Given the description of an element on the screen output the (x, y) to click on. 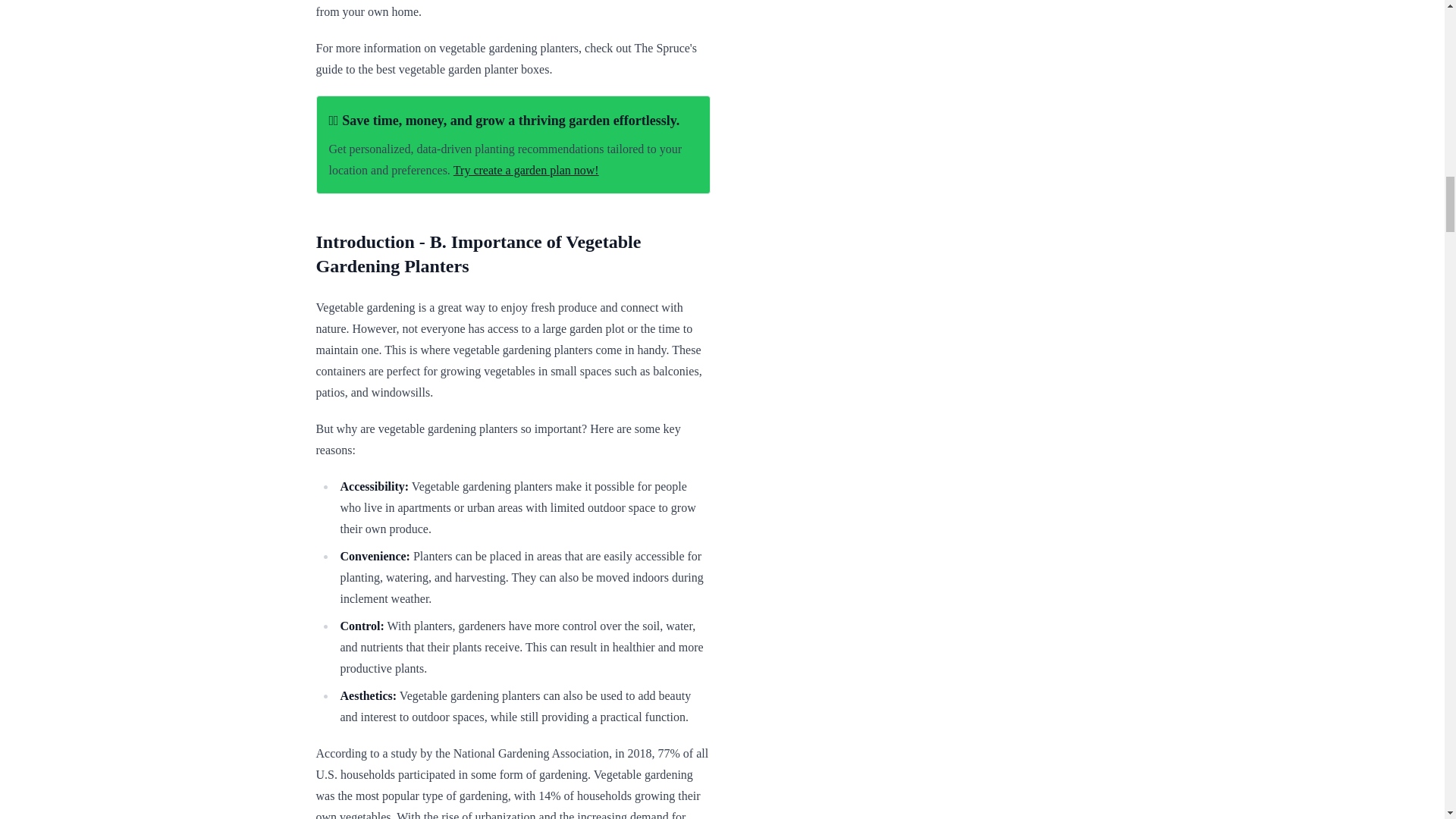
Try create a garden plan now! (525, 169)
